Given the description of an element on the screen output the (x, y) to click on. 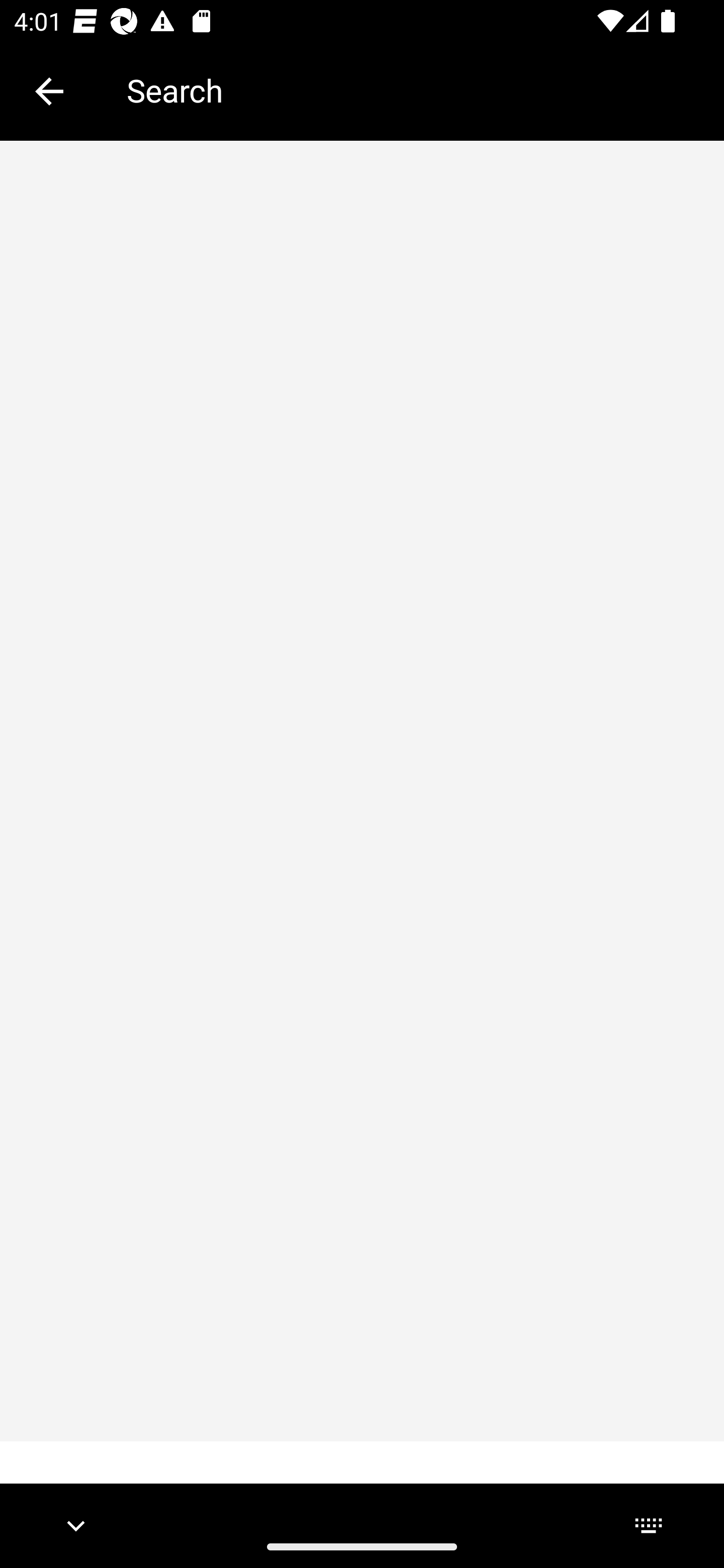
Collapse (49, 91)
Search (411, 90)
